Given the description of an element on the screen output the (x, y) to click on. 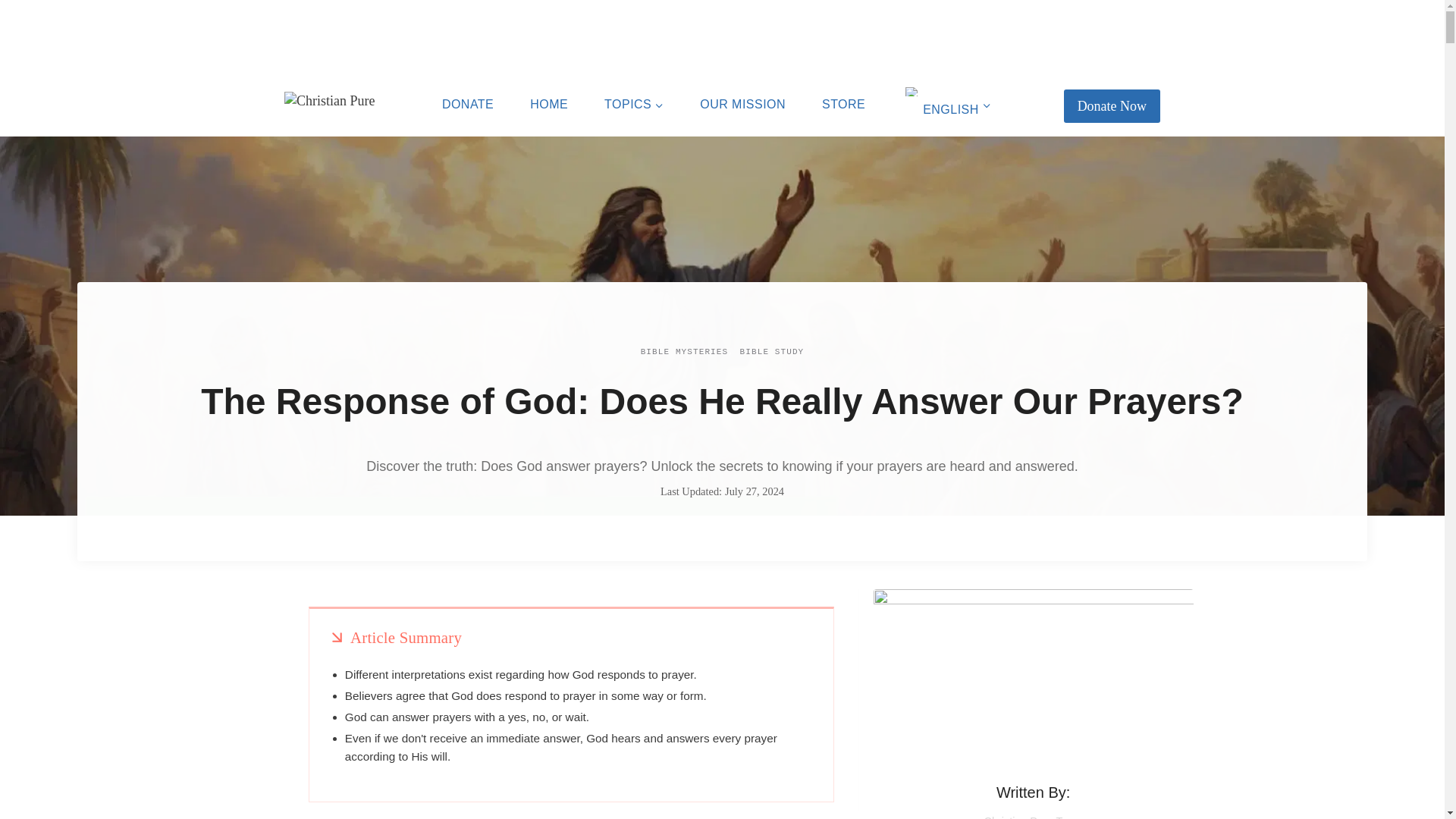
DONATE (467, 104)
OUR MISSION (742, 104)
BIBLE MYSTERIES (684, 351)
ENGLISH (946, 104)
TOPICS (633, 104)
BIBLE STUDY (772, 351)
HOME (548, 104)
English (911, 91)
STORE (843, 104)
Donate Now (1112, 105)
